Given the description of an element on the screen output the (x, y) to click on. 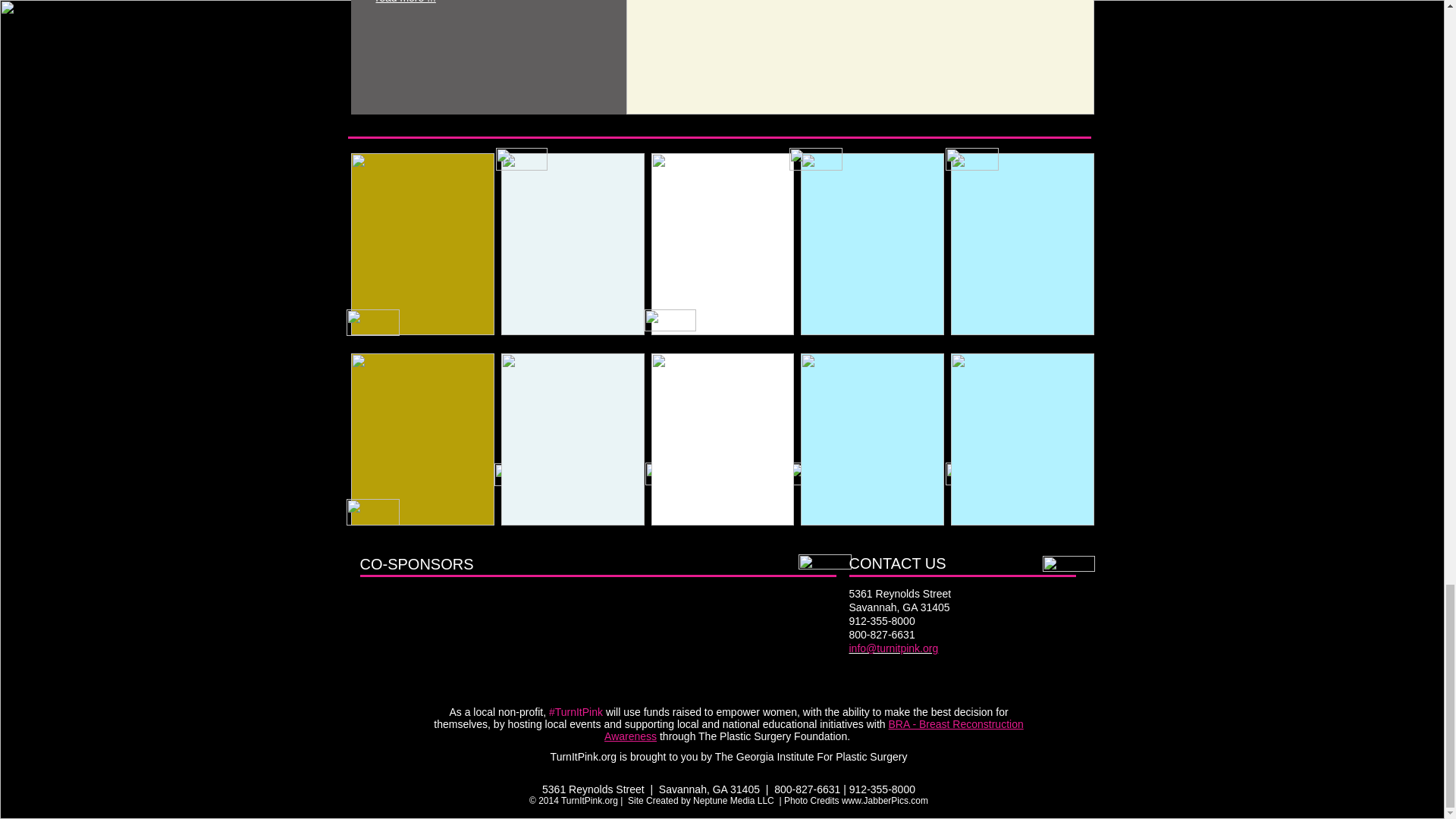
read more ... (405, 2)
ribbon.png (670, 473)
ribbon.png (372, 322)
ribbon.png (815, 473)
ribbon.png (521, 159)
ribbon.png (521, 474)
ribbon.png (970, 473)
ribbon.png (670, 320)
